Given the description of an element on the screen output the (x, y) to click on. 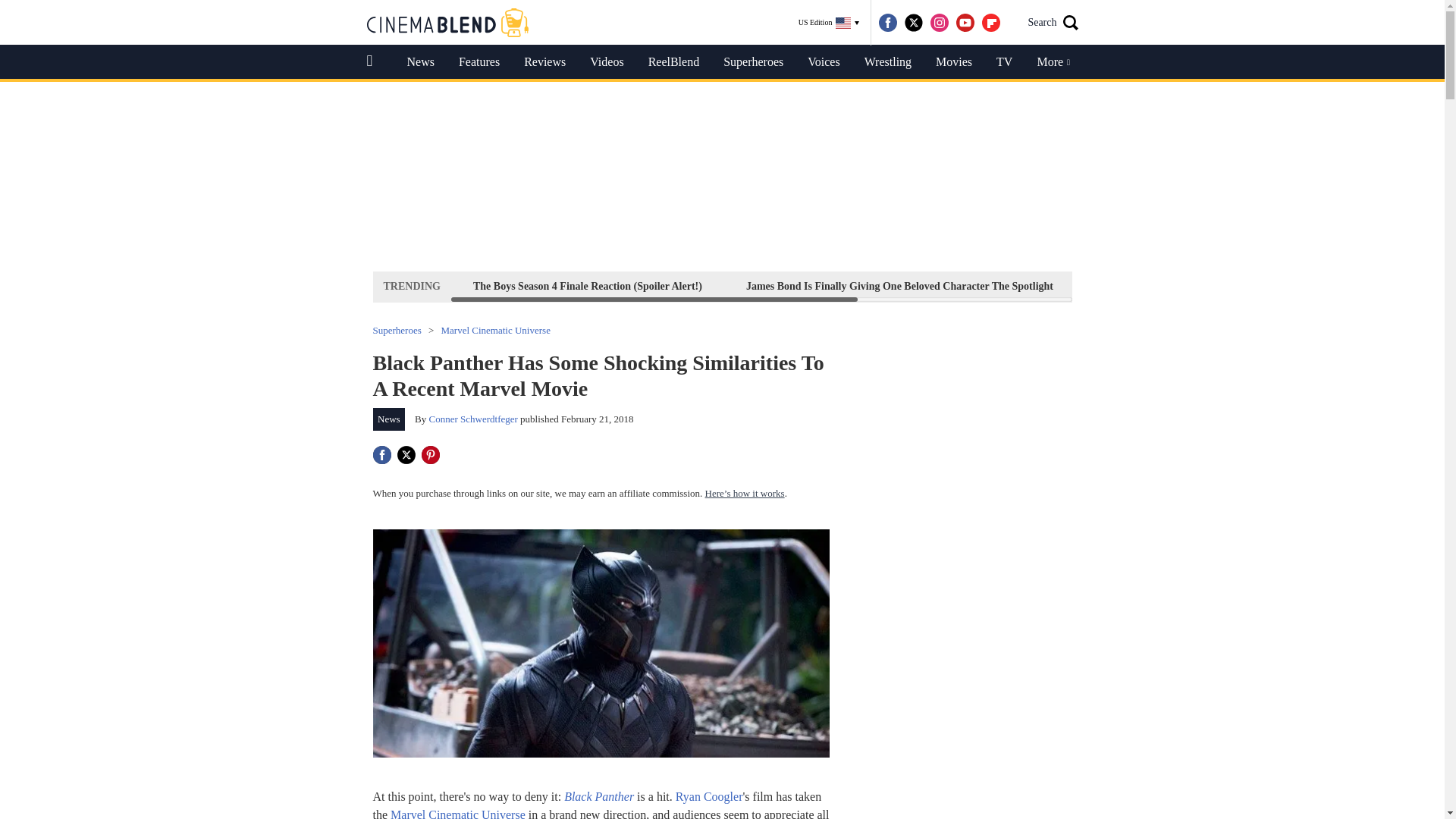
ReelBlend (673, 61)
Features (479, 61)
TV (1004, 61)
Marvel Cinematic Universe (495, 329)
Movies (953, 61)
100 Best Sitcoms Of All Time (1312, 286)
Videos (606, 61)
Voices (822, 61)
US Edition (828, 22)
Superheroes (397, 329)
Reviews (545, 61)
Superheroes (752, 61)
News (419, 61)
2024 Upcoming Movies (1150, 286)
